Given the description of an element on the screen output the (x, y) to click on. 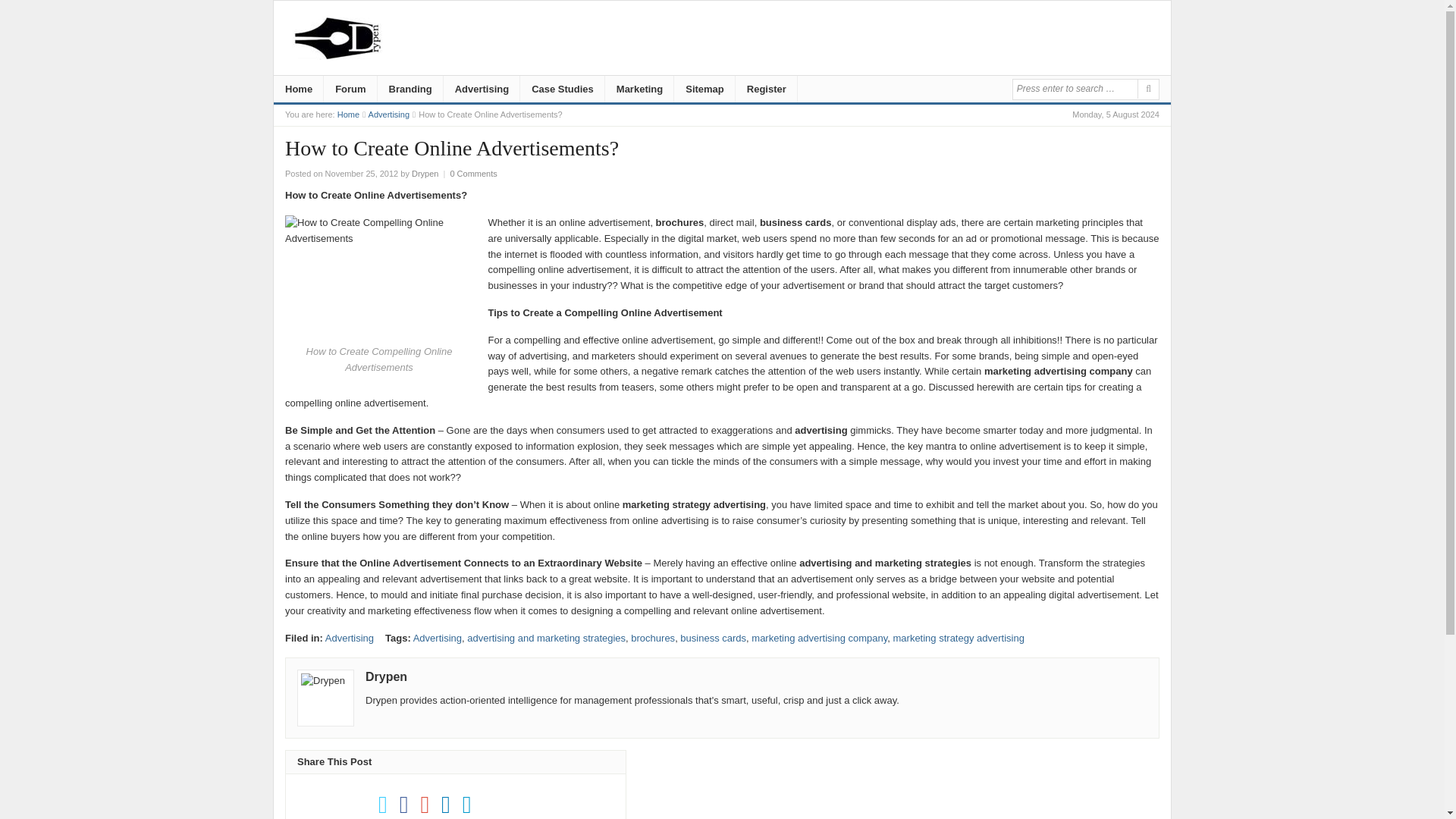
Advertising (482, 90)
Advertising (388, 113)
Drypen (425, 173)
Advertising (349, 637)
Advertising (388, 113)
Sitemap (704, 90)
Drypen (386, 676)
Forum (350, 90)
drypen.in (348, 113)
How to Create Compelling Online Advertisements (379, 277)
Search for: (1073, 88)
0 Comments (472, 173)
Marketing (639, 90)
Register (766, 90)
Home (348, 113)
